Given the description of an element on the screen output the (x, y) to click on. 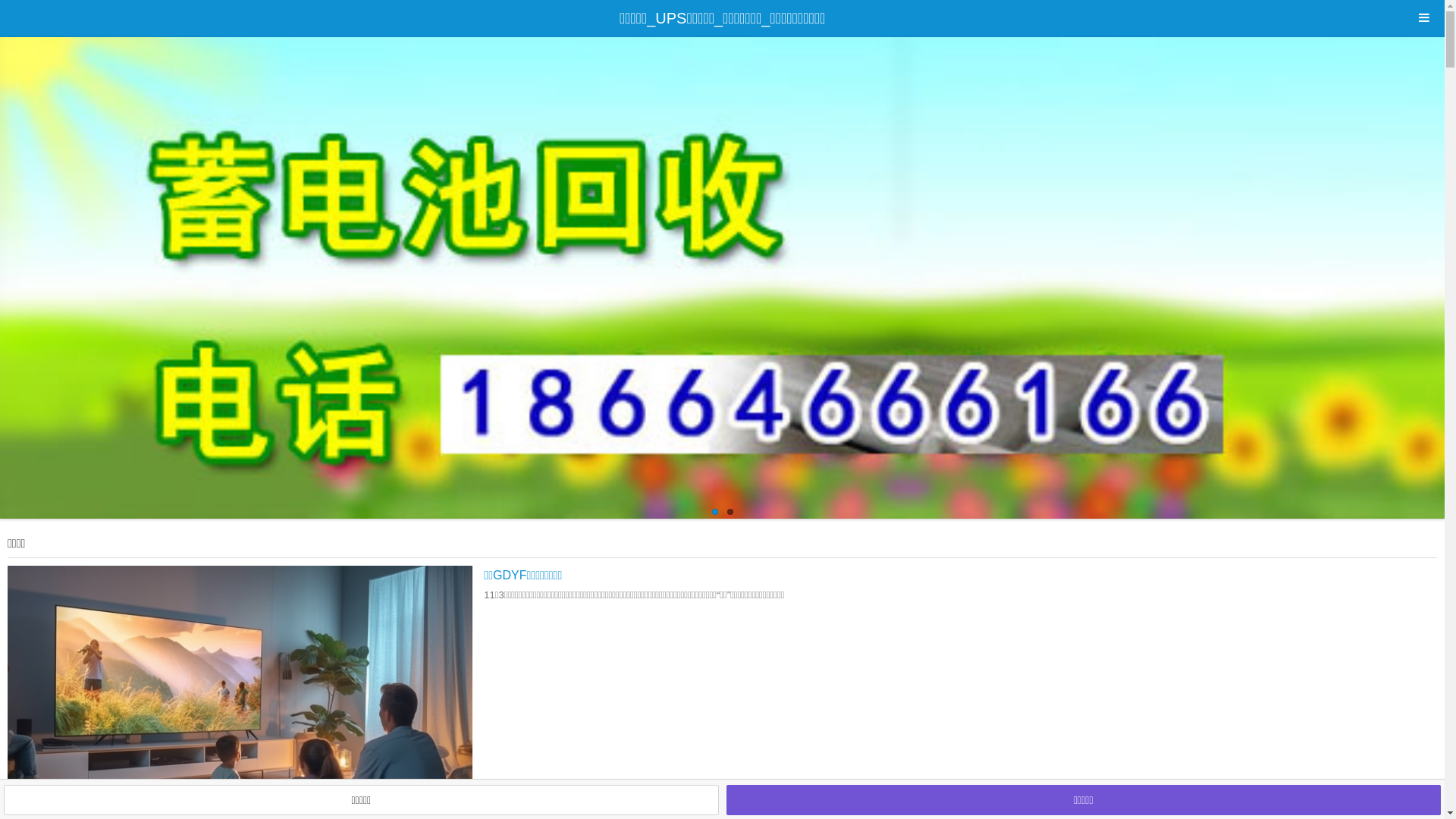
1 Element type: text (714, 511)
2 Element type: text (729, 511)
